Given the description of an element on the screen output the (x, y) to click on. 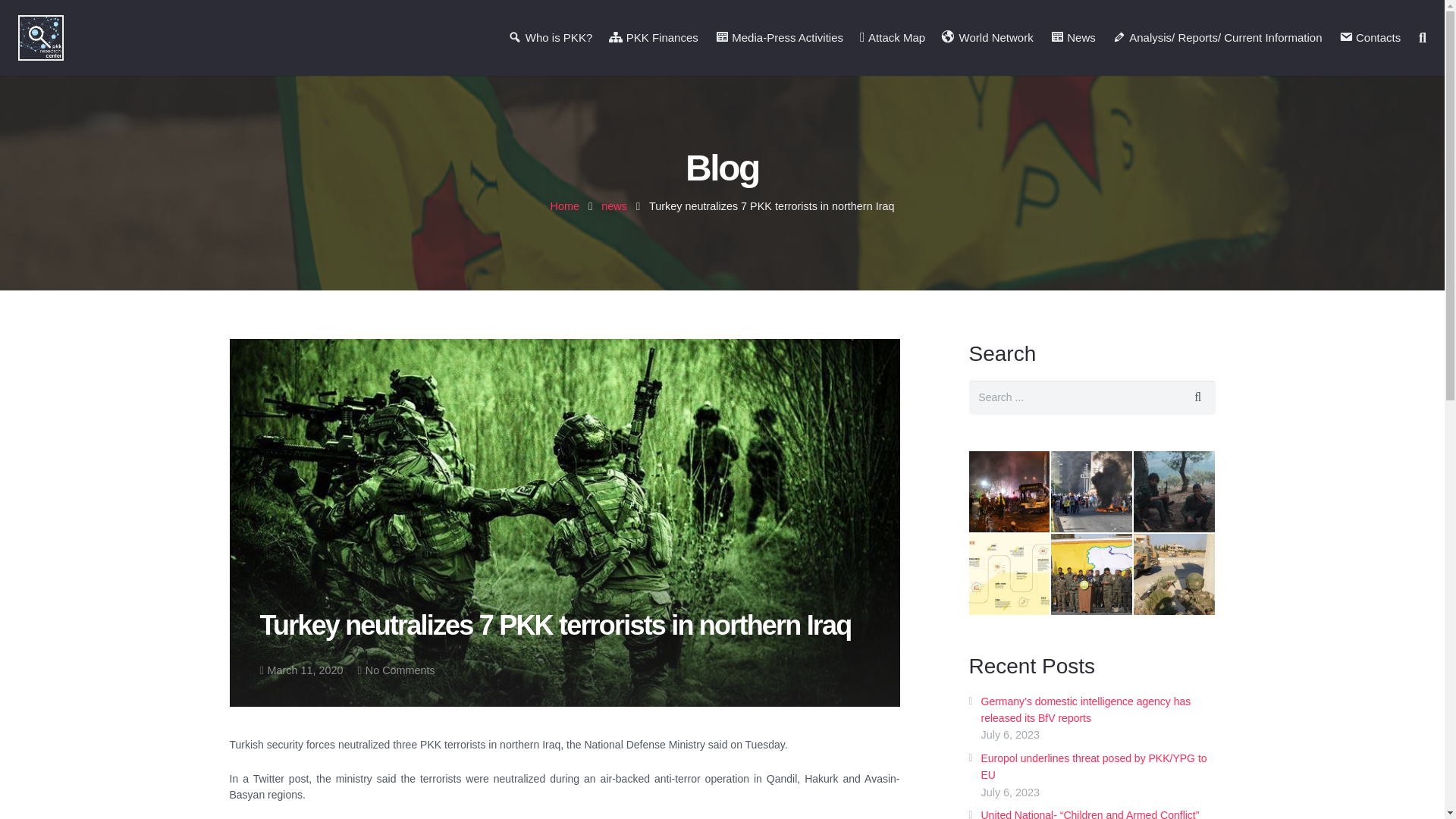
No Comments (400, 670)
Media-Press Activities (778, 38)
PKK Finances (652, 38)
news (614, 205)
Contacts (1369, 38)
Who is PKK? (549, 38)
Attack Map (892, 38)
World Network (987, 38)
Home (564, 205)
